Given the description of an element on the screen output the (x, y) to click on. 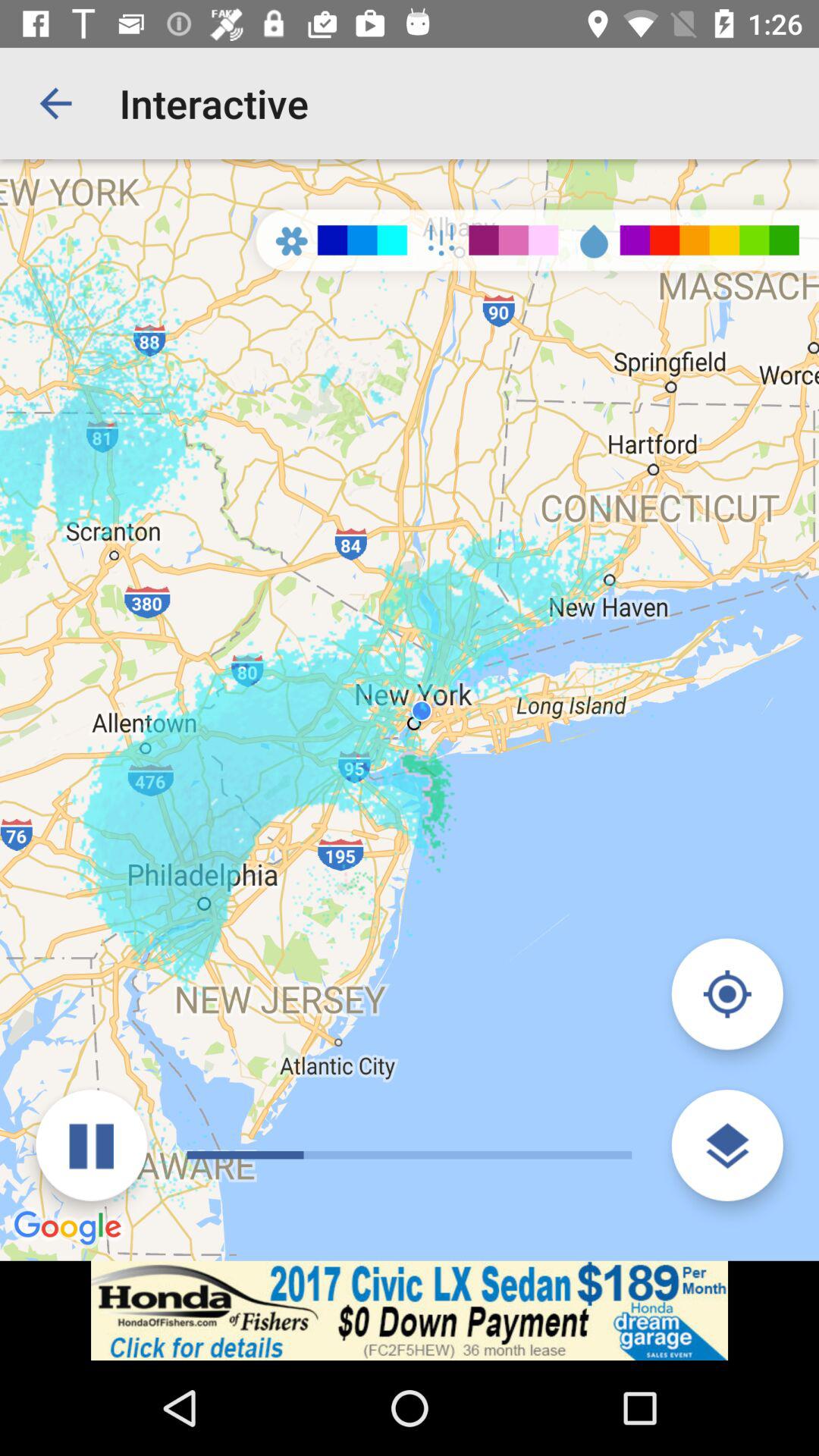
advertisement (409, 1310)
